Given the description of an element on the screen output the (x, y) to click on. 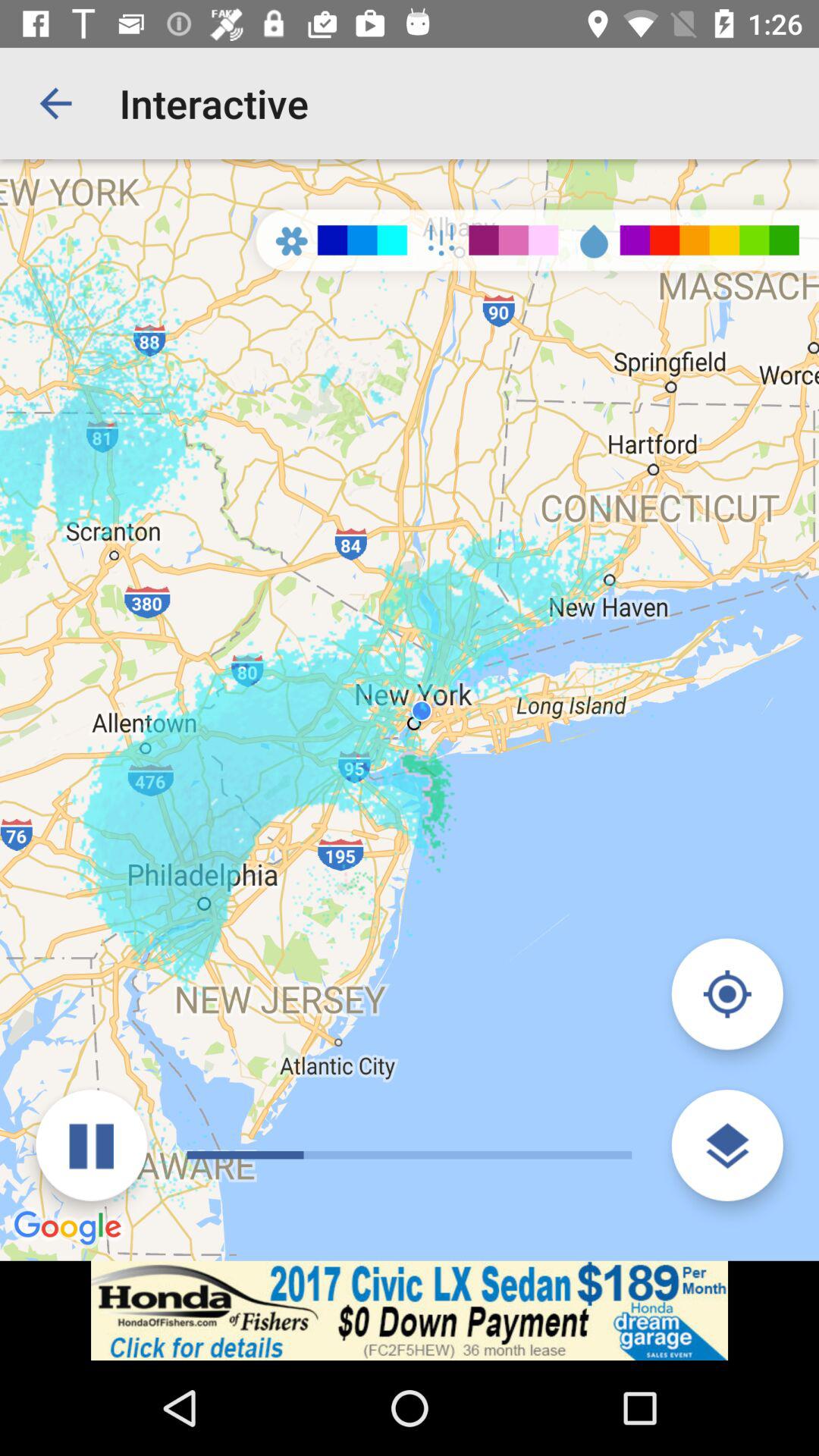
advertisement (409, 1310)
